Given the description of an element on the screen output the (x, y) to click on. 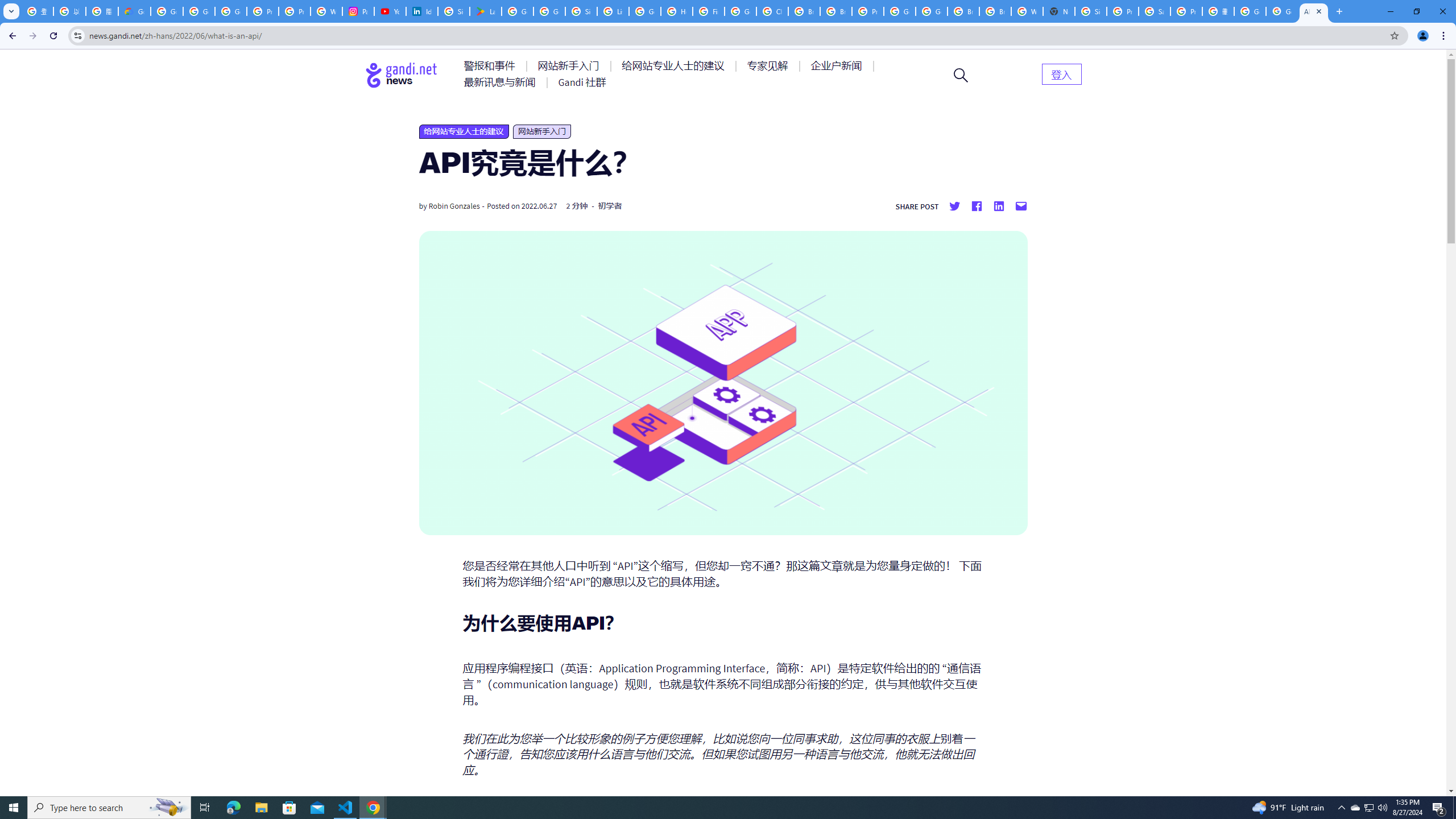
AutomationID: menu-item-77763 (674, 65)
Privacy Help Center - Policies Help (262, 11)
